Given the description of an element on the screen output the (x, y) to click on. 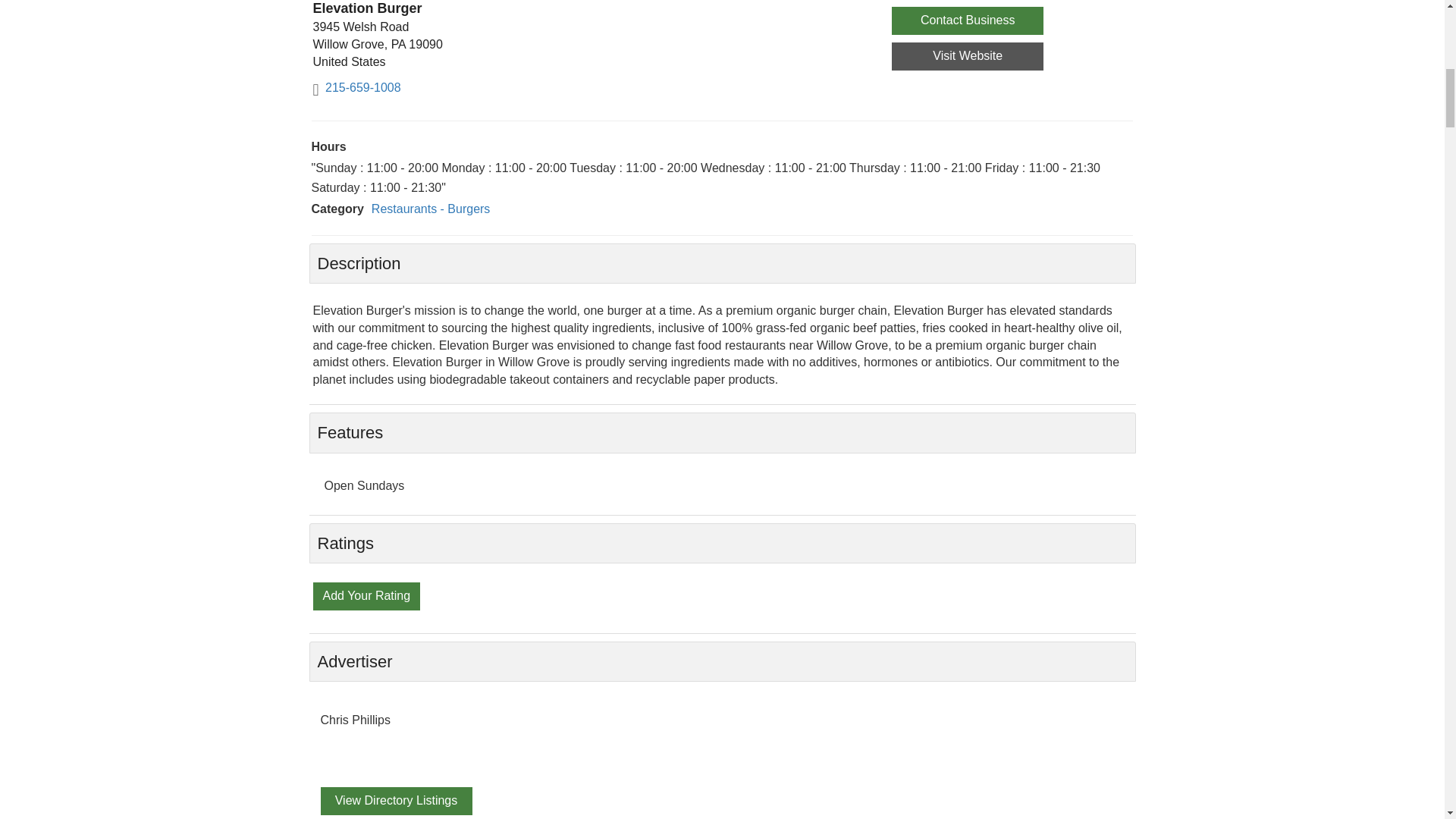
Click to Rate (366, 594)
View Directory Listings (395, 800)
